Given the description of an element on the screen output the (x, y) to click on. 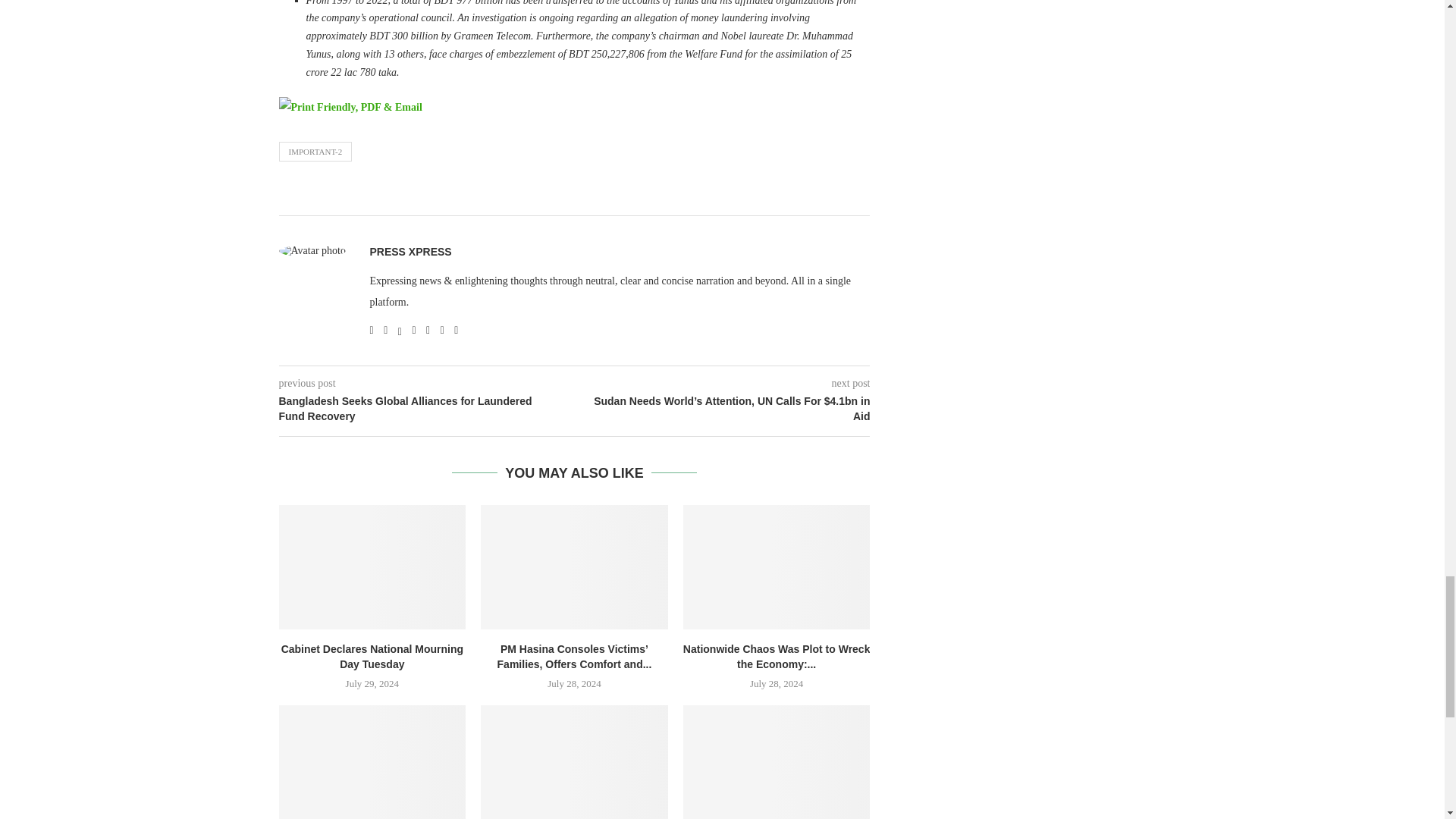
Cabinet Declares National Mourning Day Tuesday (372, 567)
PM Urges Action: Find Perpetrators Behind BTV Bhaban Rampage (776, 762)
Bangladesh Breathes Again (574, 762)
Author Press Xpress (410, 251)
Nationwide Chaos Was Plot to Wreck the Economy: PM Hasina (776, 567)
